Given the description of an element on the screen output the (x, y) to click on. 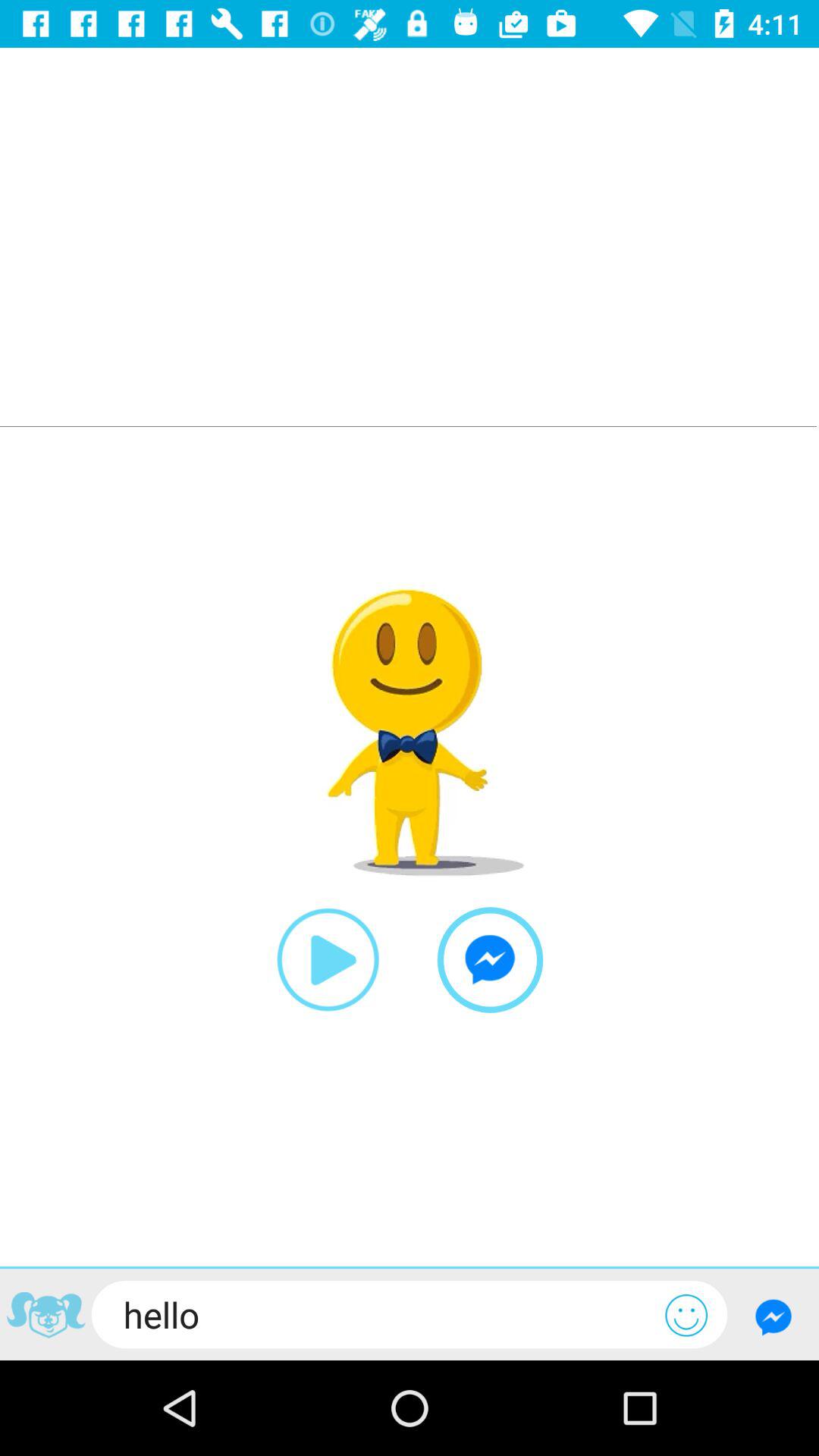
chose the smile (686, 1315)
